Given the description of an element on the screen output the (x, y) to click on. 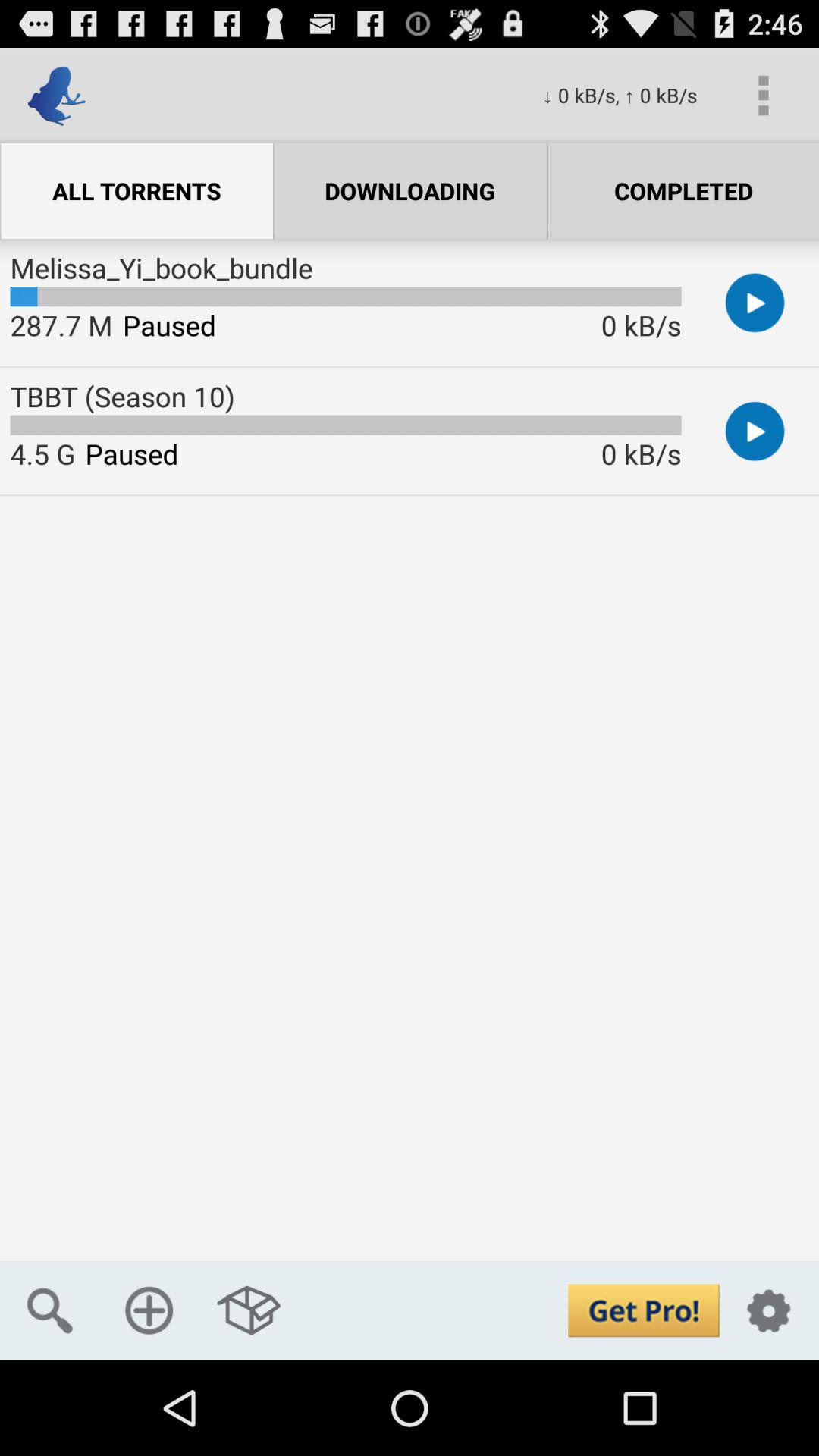
click on first play button (755, 302)
click on the button which is to the right side of the all torrents (410, 190)
click on drop box icon (248, 1309)
